Given the description of an element on the screen output the (x, y) to click on. 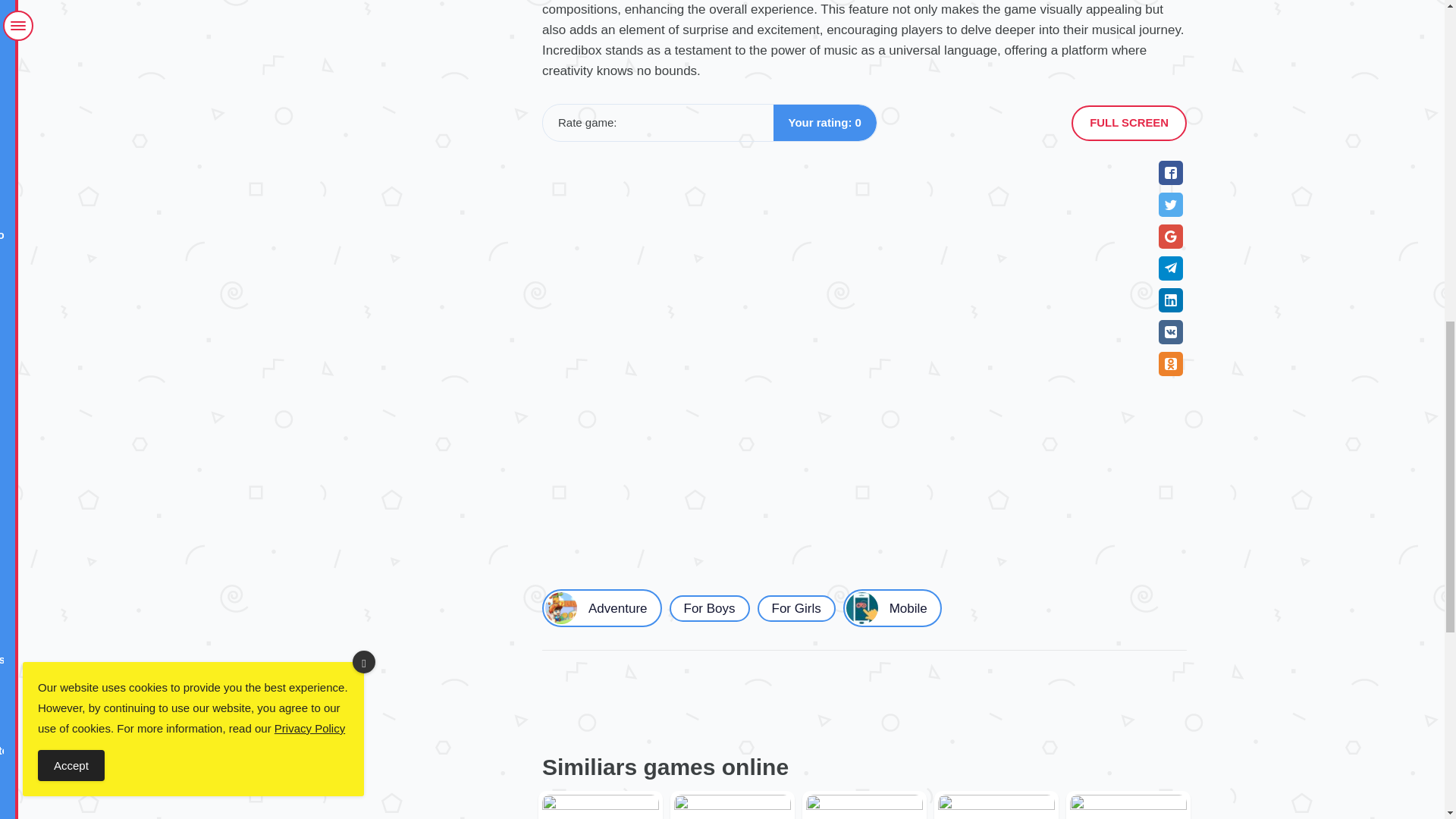
Share link on Vkontakte (1170, 331)
Share link on LinkedIn (1170, 300)
Share link on Facebook (1170, 172)
Share link on Twitter (1170, 204)
Share link on Telegram (1170, 268)
